Given the description of an element on the screen output the (x, y) to click on. 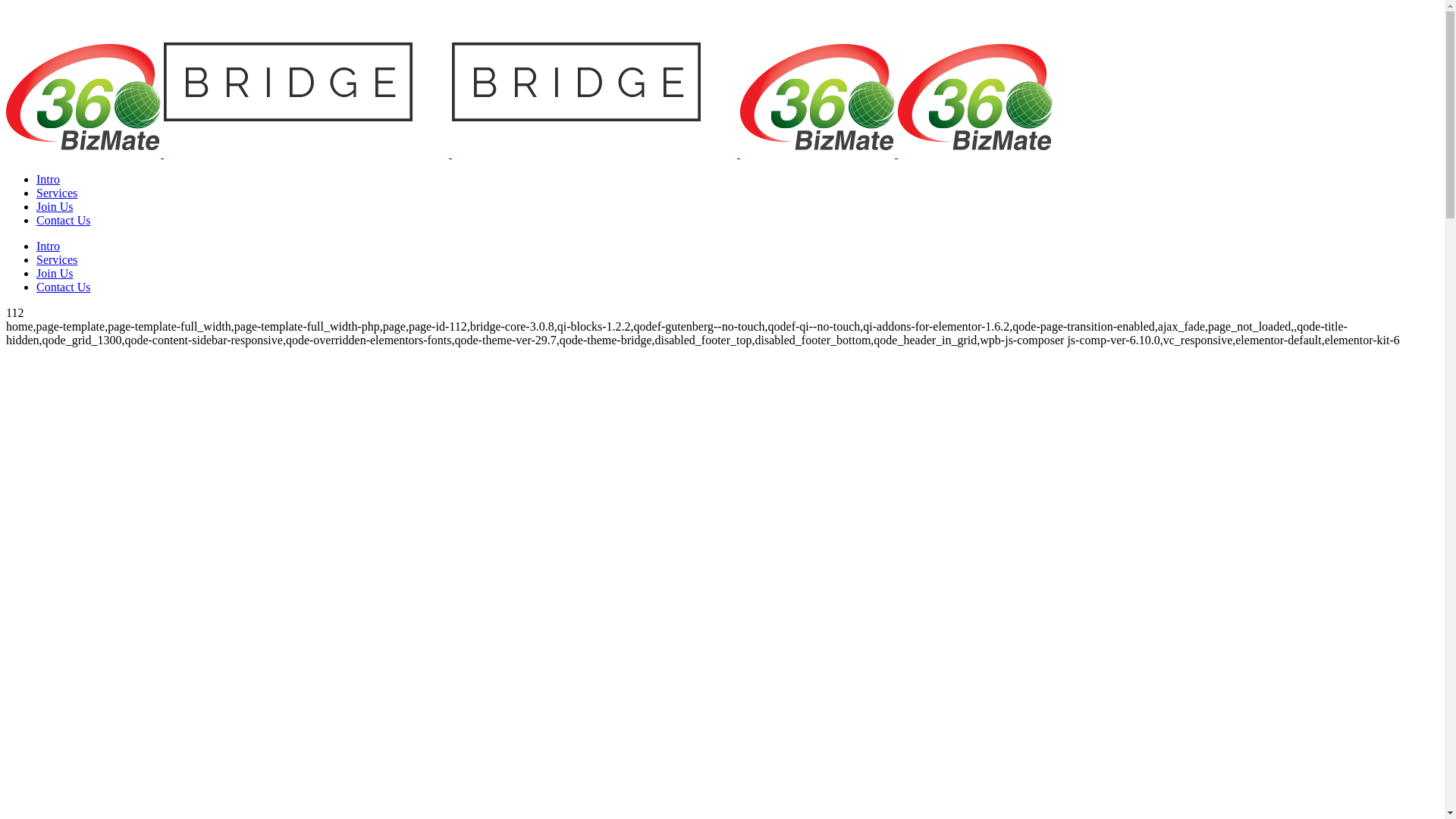
Intro Element type: text (47, 178)
Services Element type: text (56, 192)
Contact Us Element type: text (63, 286)
Join Us Element type: text (54, 272)
Services Element type: text (56, 259)
Join Us Element type: text (54, 206)
Contact Us Element type: text (63, 219)
Intro Element type: text (47, 245)
